Given the description of an element on the screen output the (x, y) to click on. 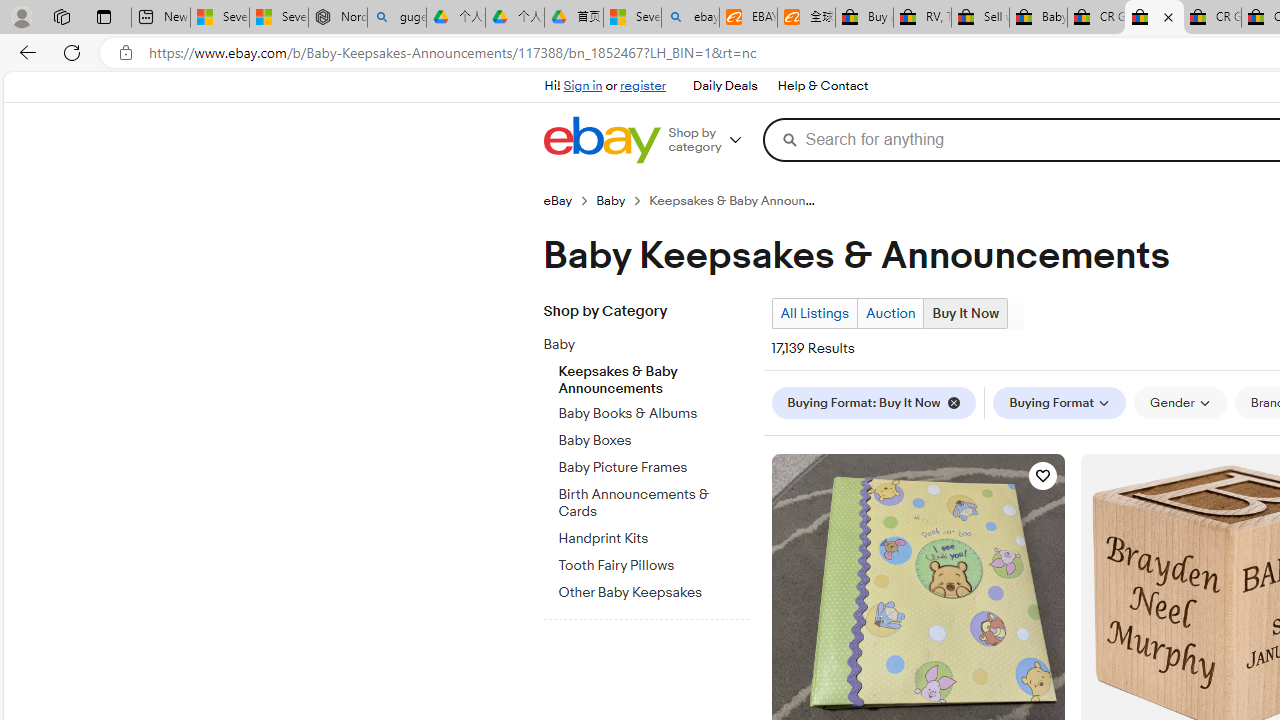
Tooth Fairy Pillows (653, 566)
Baby Books & Albums (653, 414)
All Listings (814, 313)
All Listings (813, 313)
Baby Books & Albums (653, 410)
eBay (557, 200)
Handprint Kits (653, 538)
Buying Format (1059, 402)
Birth Announcements & Cards (653, 504)
Other Baby Keepsakes (653, 593)
Sign in (582, 85)
